Given the description of an element on the screen output the (x, y) to click on. 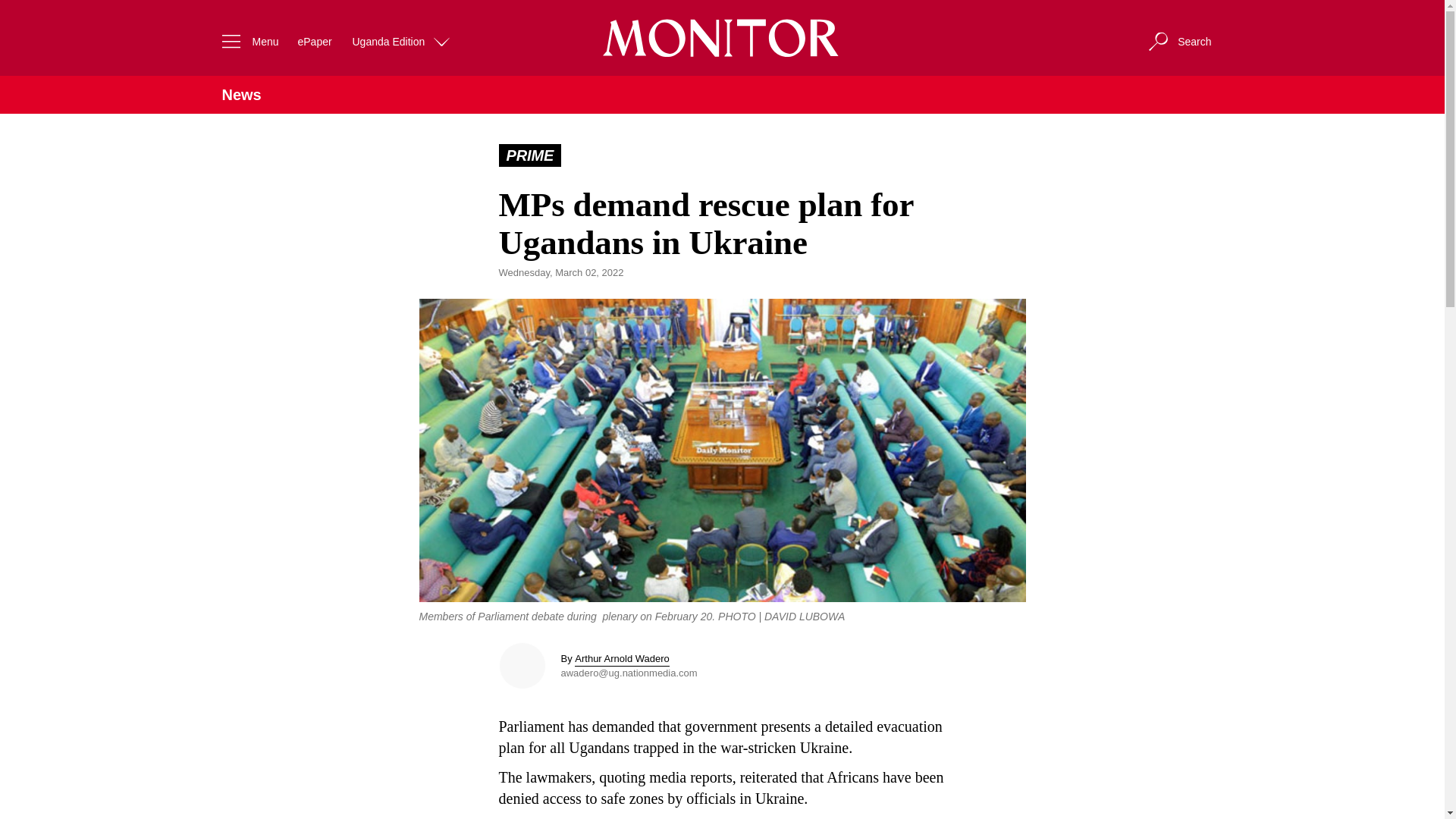
News (240, 94)
ePaper (314, 41)
Uganda Edition (401, 41)
Search (1178, 41)
Menu (246, 41)
